Given the description of an element on the screen output the (x, y) to click on. 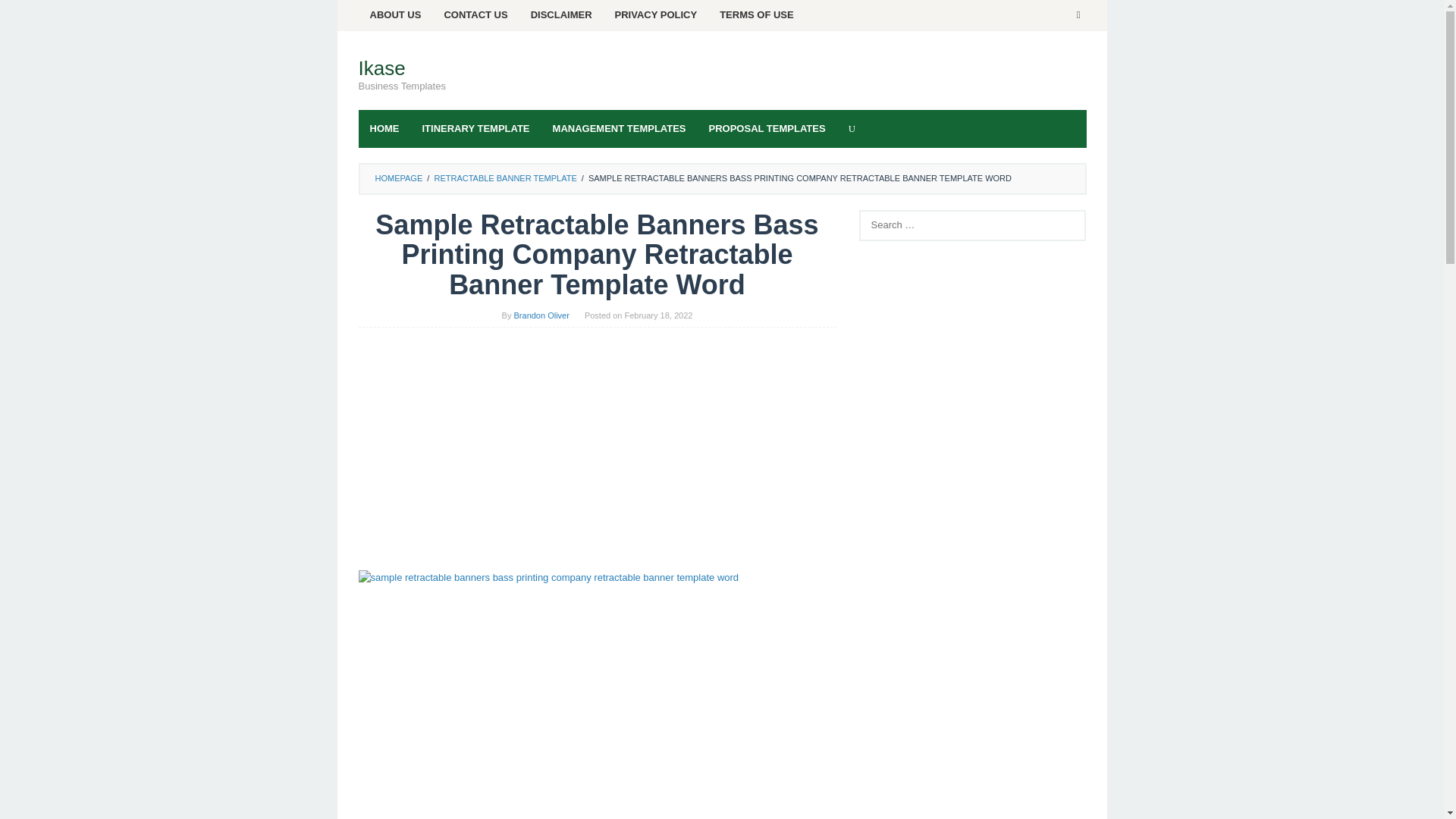
RETRACTABLE BANNER TEMPLATE (504, 177)
ITINERARY TEMPLATE (475, 128)
HOME (384, 128)
Ikase (381, 67)
ABOUT US (395, 15)
HOMEPAGE (398, 177)
Search (27, 15)
DISCLAIMER (561, 15)
TERMS OF USE (756, 15)
CONTACT US (475, 15)
Ikase (381, 67)
Permalink to: Brandon Oliver (541, 315)
PRIVACY POLICY (656, 15)
PROPOSAL TEMPLATES (767, 128)
